Given the description of an element on the screen output the (x, y) to click on. 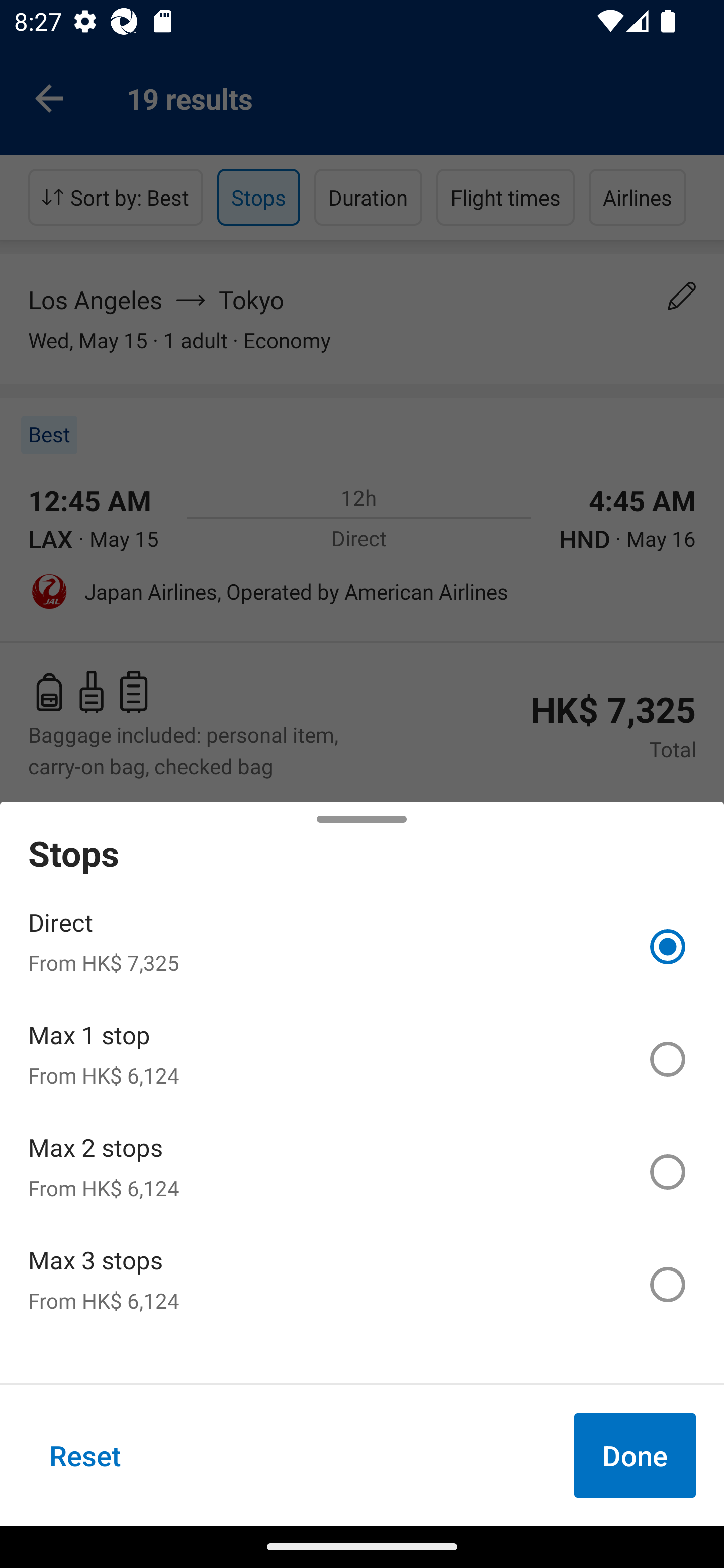
Direct From HK$ 7,325 (362, 946)
Max 1 stop From HK$ 6,124 (362, 1059)
Max 2 stops From HK$ 6,124 (362, 1171)
Max 3 stops From HK$ 6,124 (362, 1283)
Reset (85, 1454)
Done (634, 1454)
